Given the description of an element on the screen output the (x, y) to click on. 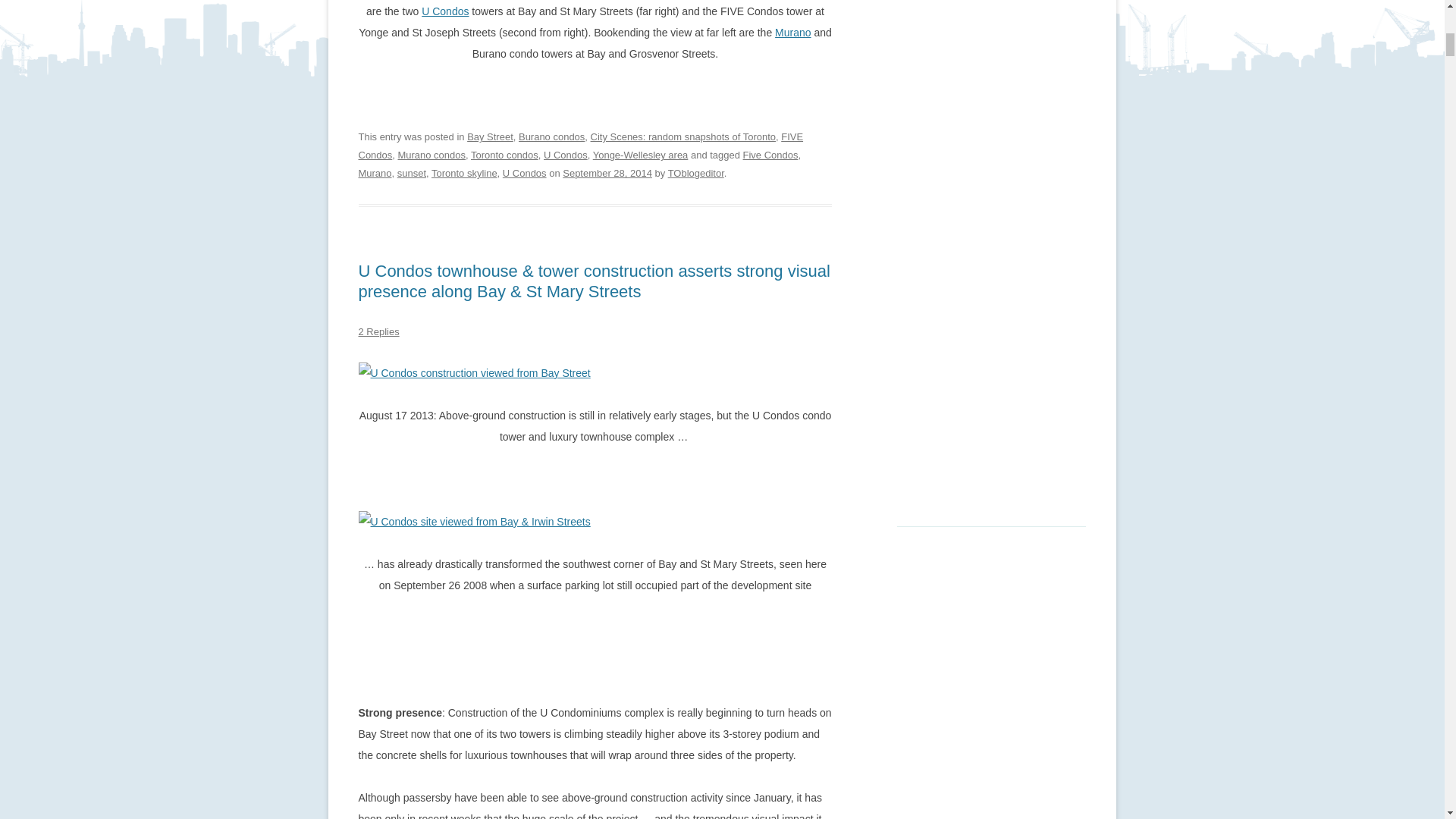
U Condos (445, 10)
sunset (411, 173)
FIVE Condos (580, 145)
Yonge-Wellesley area (640, 154)
2 Replies (378, 331)
Toronto skyline (463, 173)
Murano (792, 32)
7:46 PM (607, 173)
View all posts by TOblogeditor (695, 173)
City Scenes: random snapshots of Toronto (683, 136)
